Given the description of an element on the screen output the (x, y) to click on. 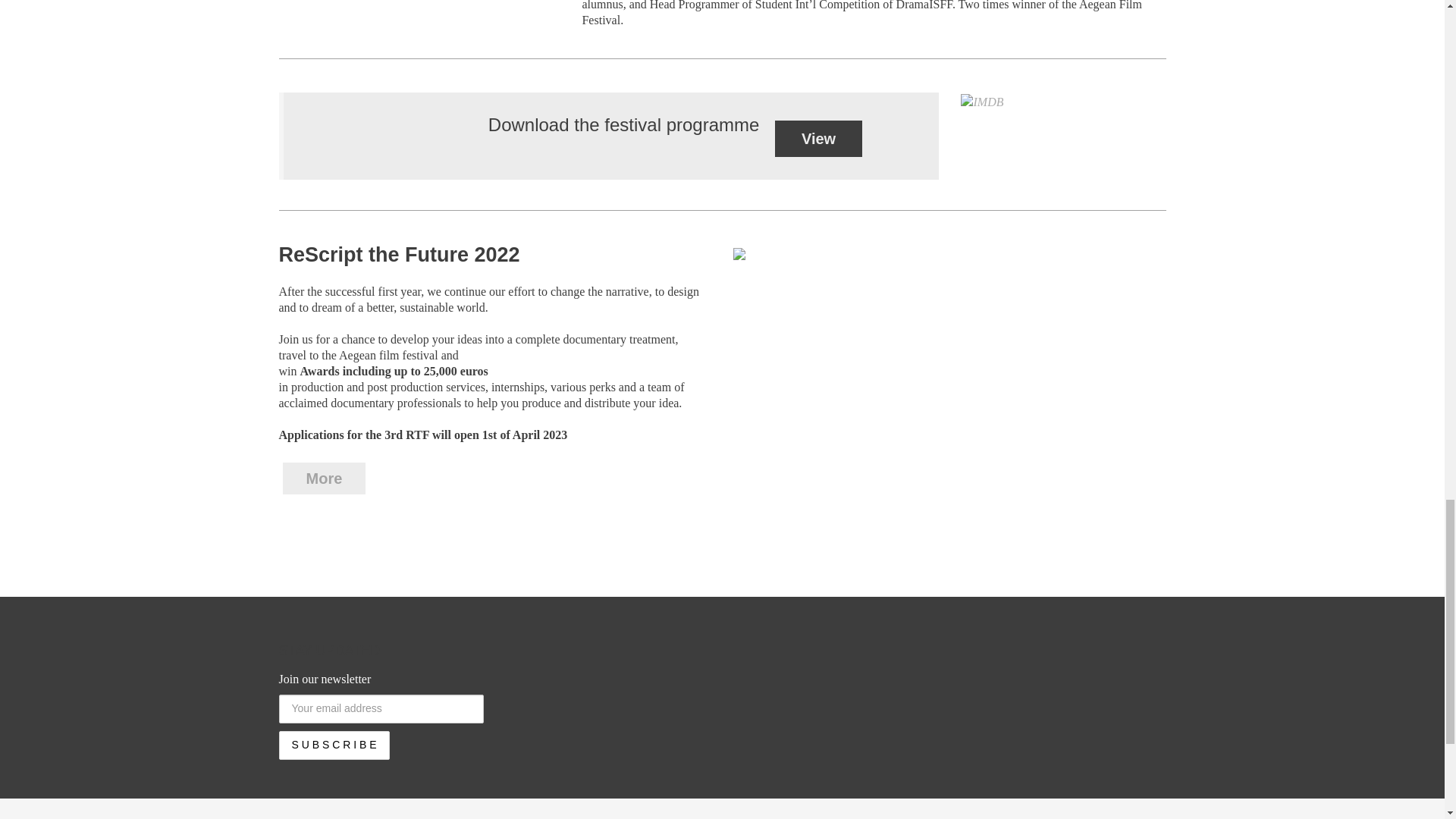
S U B S C R I B E (334, 745)
